Given the description of an element on the screen output the (x, y) to click on. 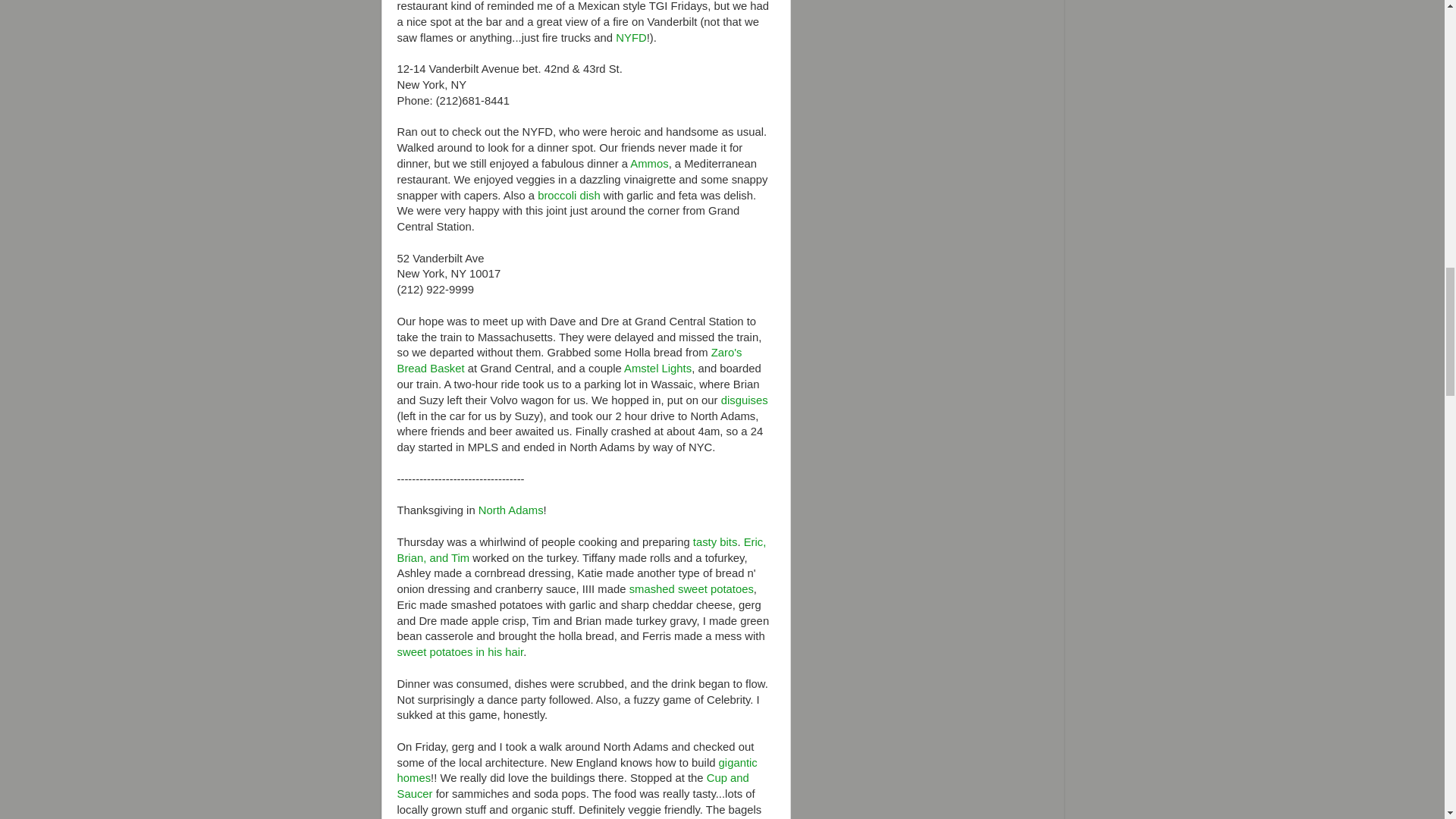
Zaro's Bread Basket (569, 360)
tasty bits (715, 541)
disguises (744, 399)
North Adams (511, 510)
broccoli dish (568, 195)
smashed sweet potatoes (691, 589)
Amstel Lights (657, 368)
Ammos (649, 163)
NYFD (630, 37)
Eric, Brian, and Tim (582, 550)
